Given the description of an element on the screen output the (x, y) to click on. 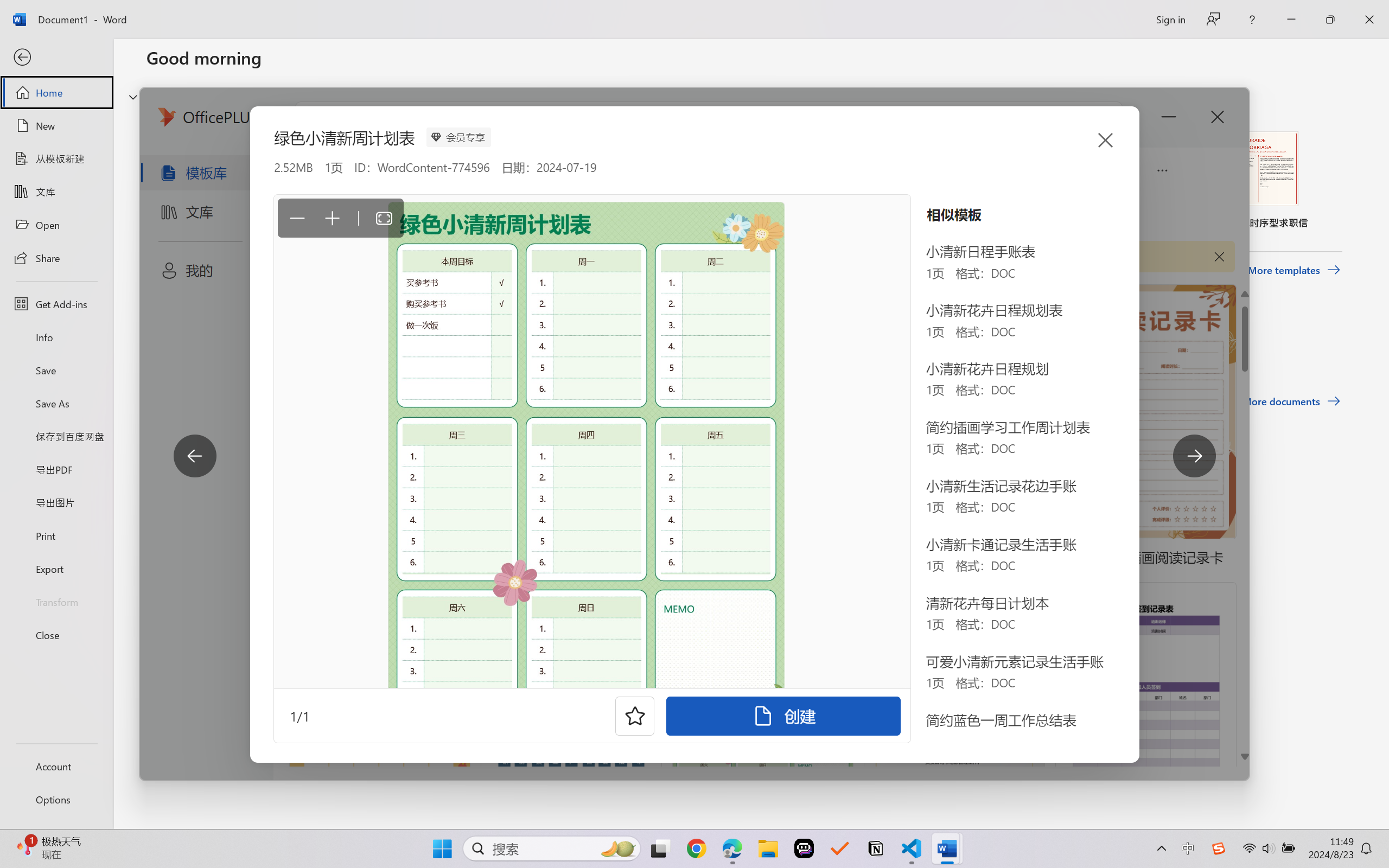
Export (56, 568)
